Given the description of an element on the screen output the (x, y) to click on. 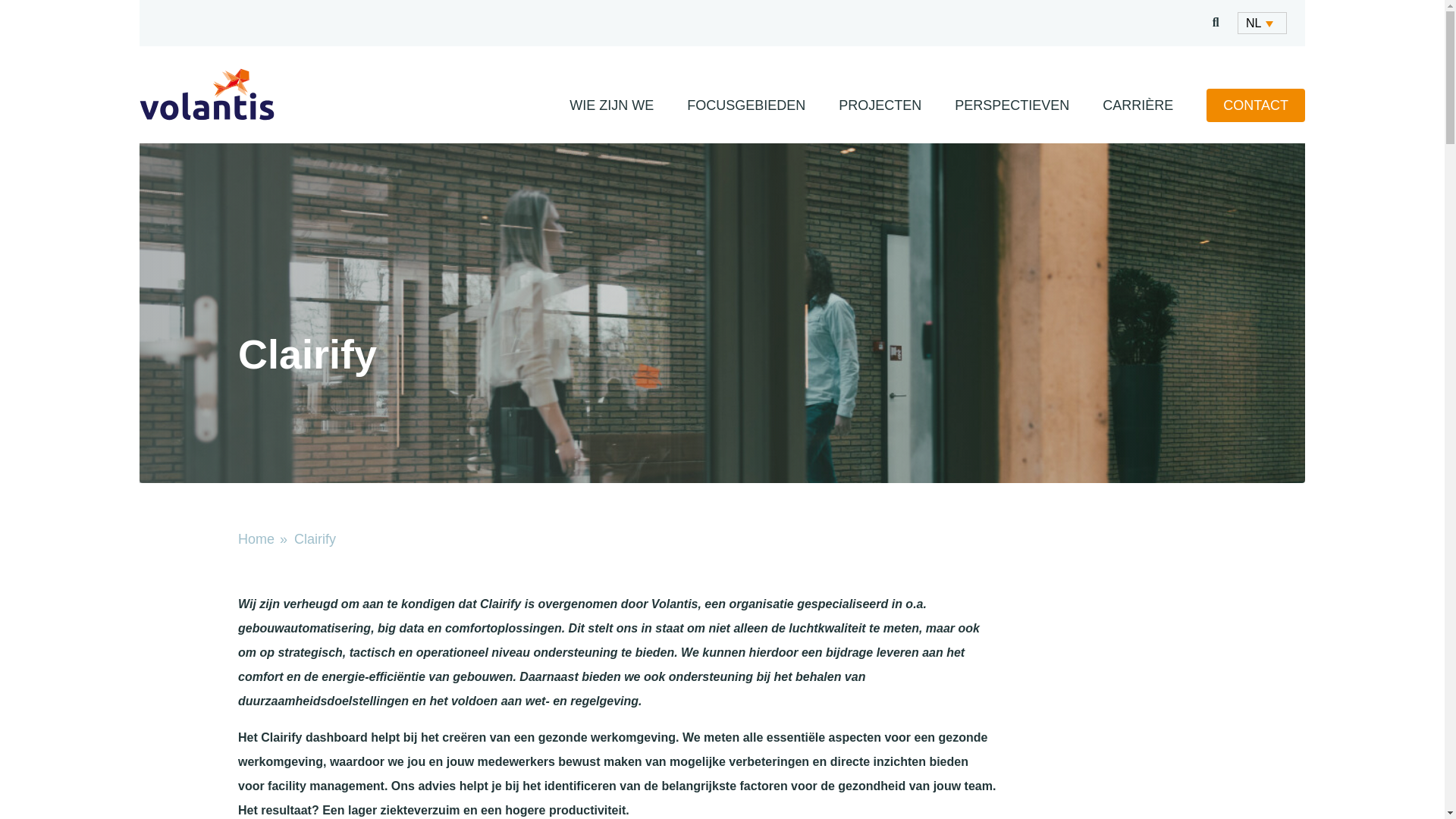
PERSPECTIEVEN (1011, 105)
PROJECTEN (879, 105)
CONTACT (1255, 105)
WIE ZIJN WE (611, 105)
FOCUSGEBIEDEN (746, 105)
NL (1262, 23)
Volantis (207, 94)
